Given the description of an element on the screen output the (x, y) to click on. 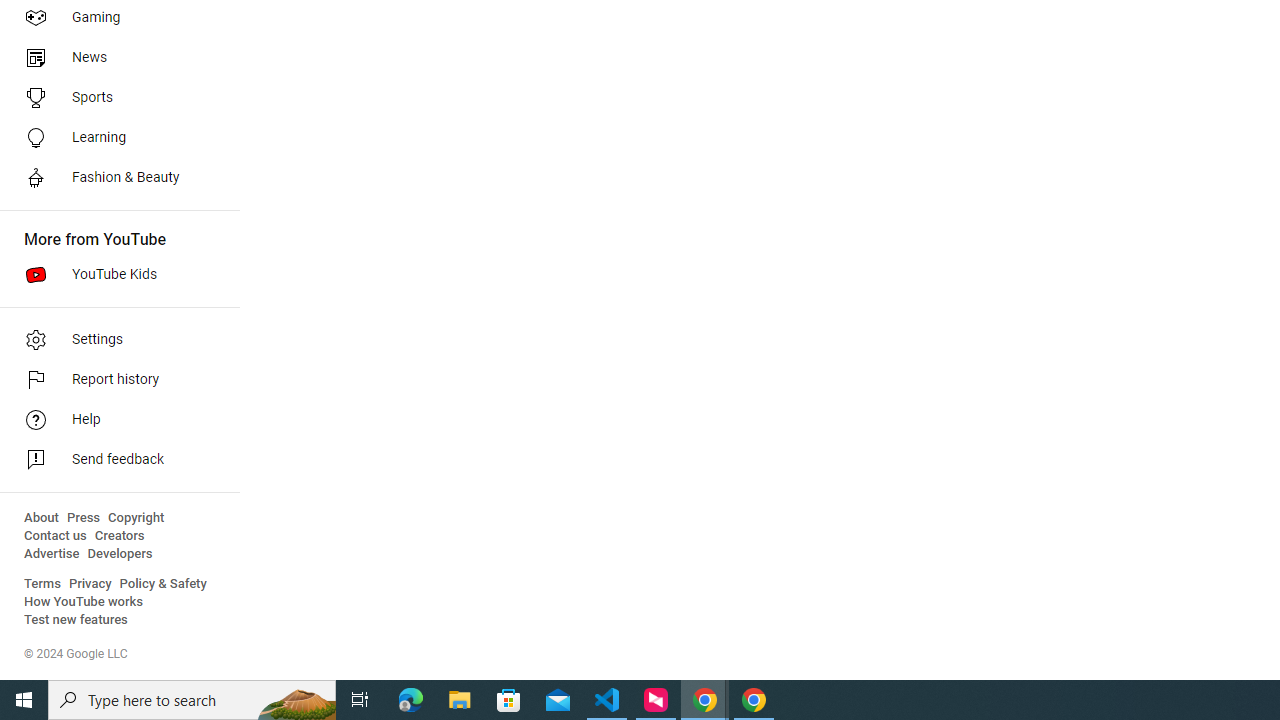
Advertise (51, 554)
Contact us (55, 536)
Creators (118, 536)
Report history (113, 380)
